Given the description of an element on the screen output the (x, y) to click on. 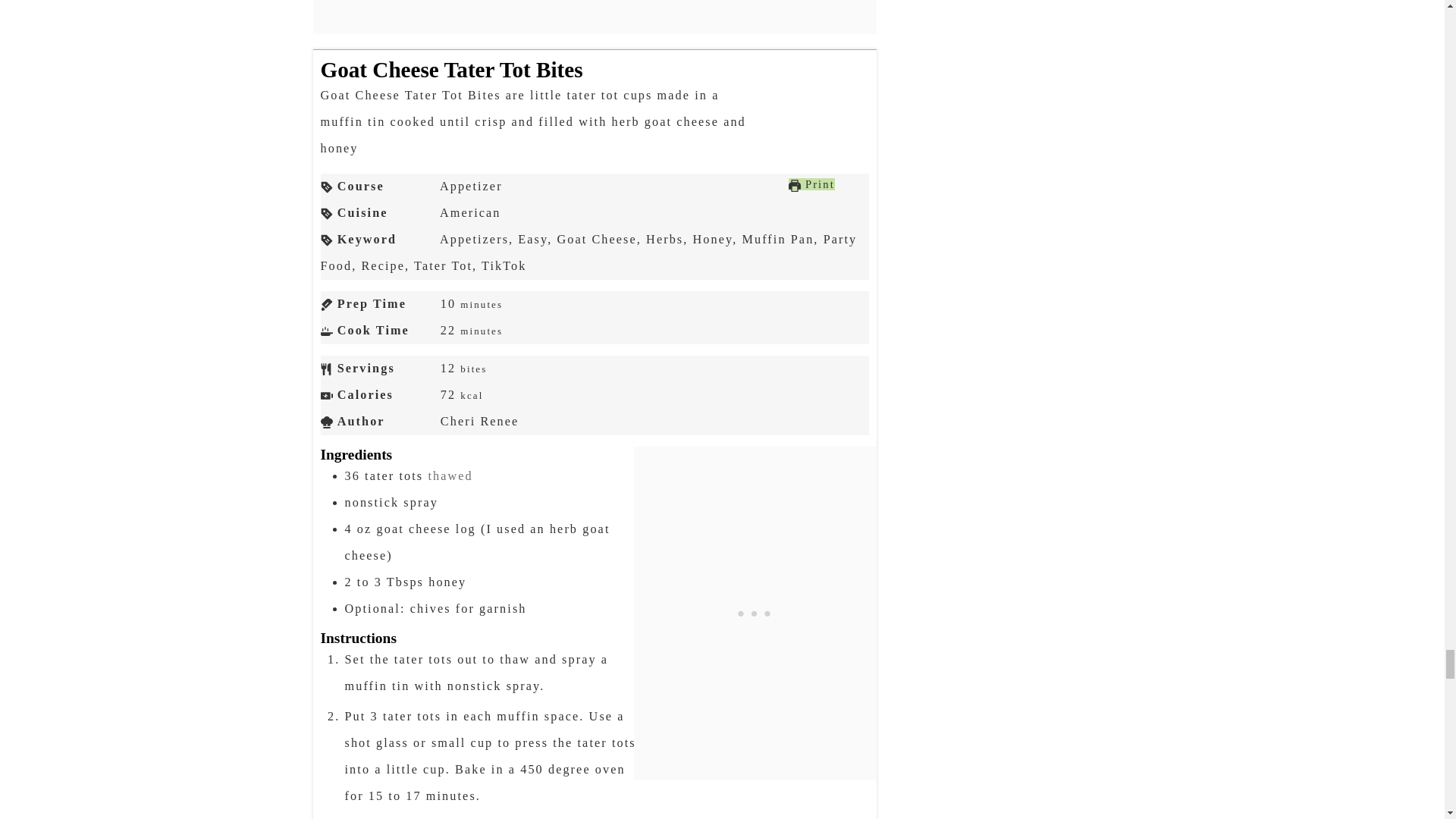
Print (811, 184)
